Given the description of an element on the screen output the (x, y) to click on. 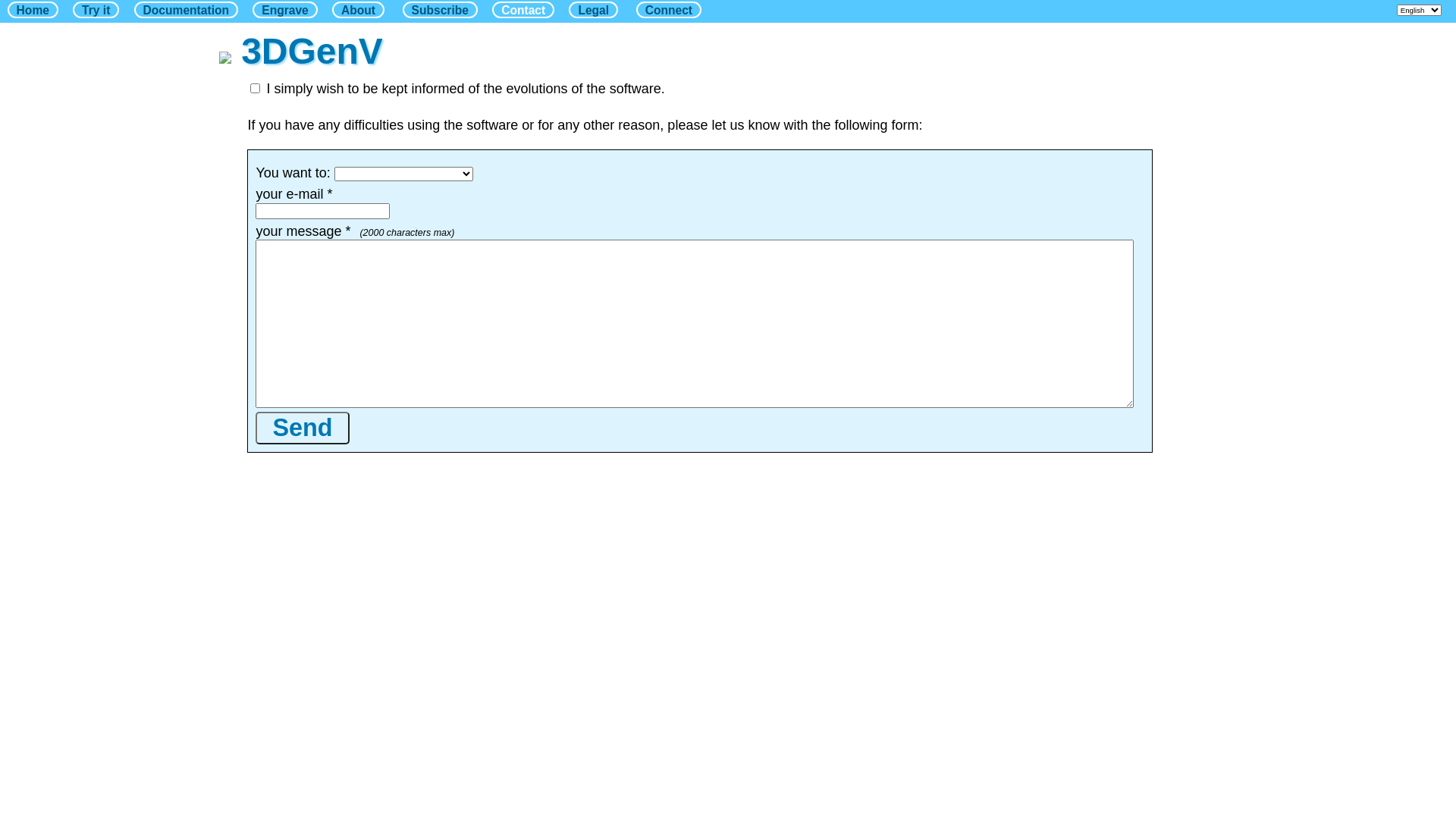
Connect Element type: text (668, 9)
Home Element type: text (32, 9)
About Element type: text (358, 9)
Documentation Element type: text (186, 9)
Subscribe Element type: text (439, 9)
Engrave Element type: text (284, 9)
Contact Element type: text (523, 9)
Legal Element type: text (593, 9)
Try it Element type: text (95, 9)
Send Element type: text (301, 427)
